Given the description of an element on the screen output the (x, y) to click on. 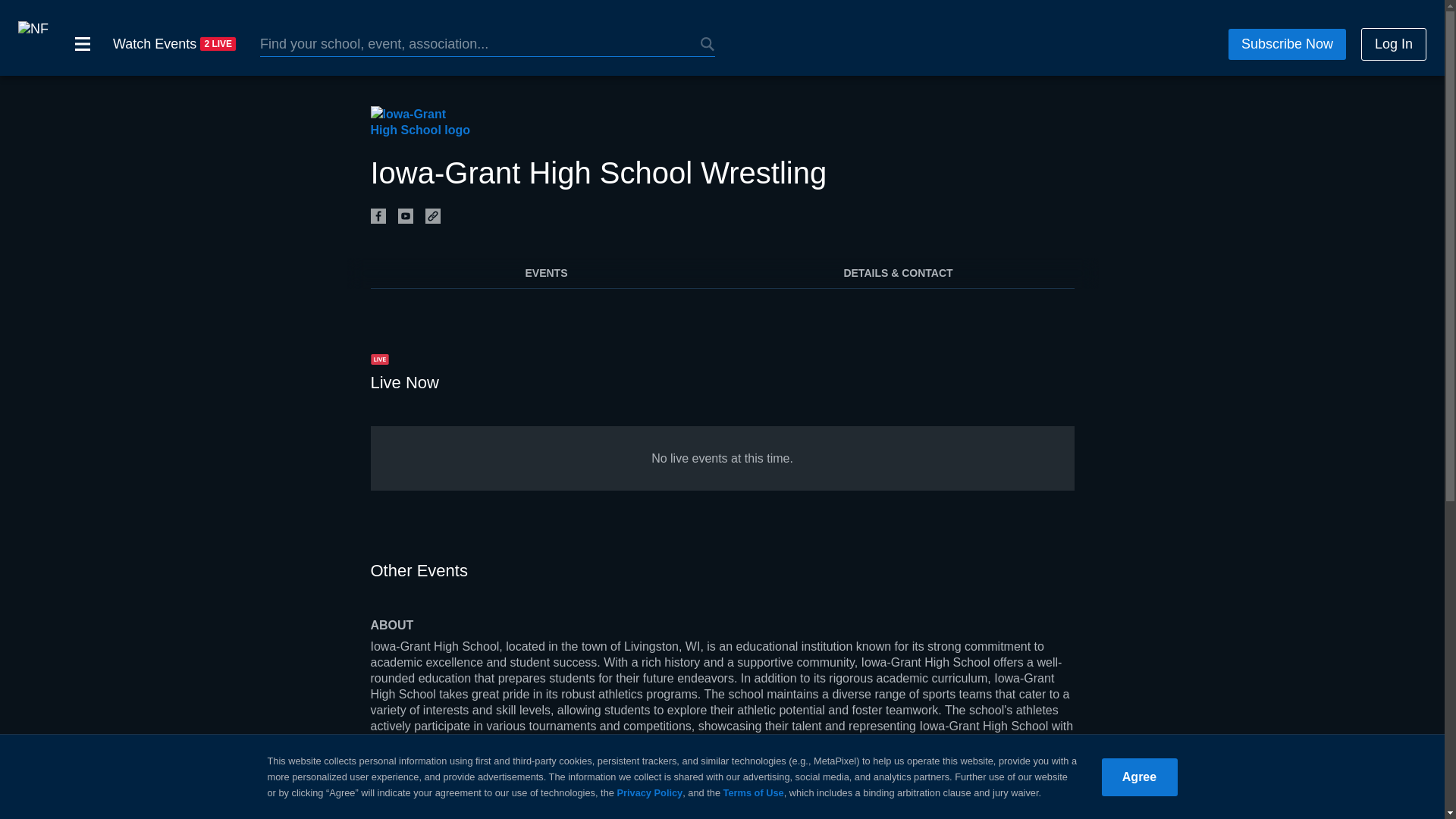
Watch Events 2 LIVE (173, 44)
Subscribe Now (1277, 40)
NFHS Network Home (33, 43)
Subscribe Now (1286, 43)
